Given the description of an element on the screen output the (x, y) to click on. 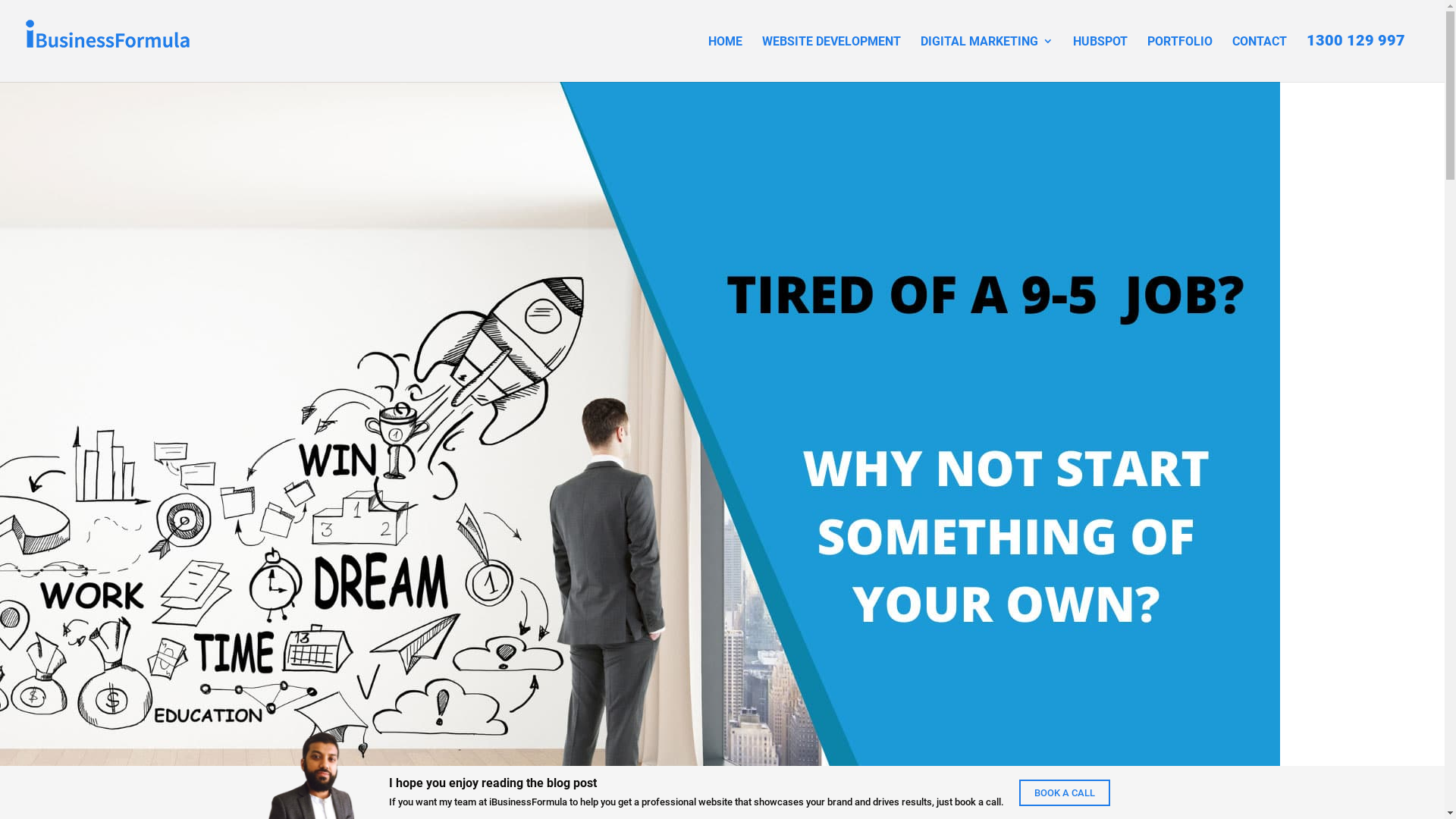
WEBSITE DEVELOPMENT Element type: text (831, 54)
DIGITAL MARKETING Element type: text (986, 54)
PORTFOLIO Element type: text (1179, 54)
CONTACT Element type: text (1259, 54)
BOOK A CALL Element type: text (1064, 792)
HUBSPOT Element type: text (1100, 54)
1300 129 997 Element type: text (1355, 54)
HOME Element type: text (725, 54)
